Given the description of an element on the screen output the (x, y) to click on. 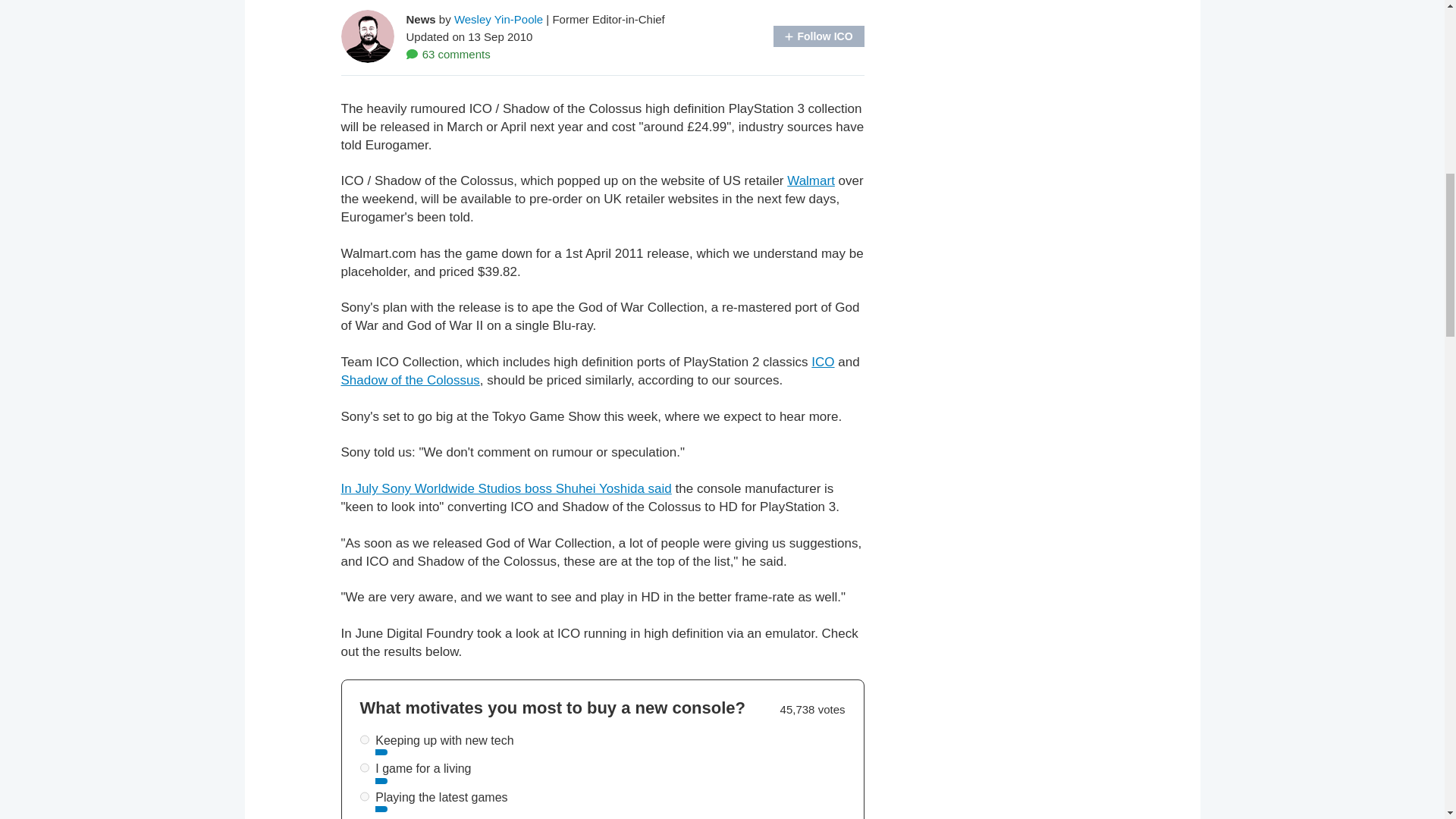
Walmart (810, 180)
Shadow of the Colossus (410, 380)
on (364, 796)
Wesley Yin-Poole (498, 18)
on (364, 767)
Follow ICO (818, 35)
In July Sony Worldwide Studios boss Shuhei Yoshida said (505, 488)
Follow ICO (818, 35)
on (364, 739)
63 comments (448, 52)
ICO (822, 361)
